Given the description of an element on the screen output the (x, y) to click on. 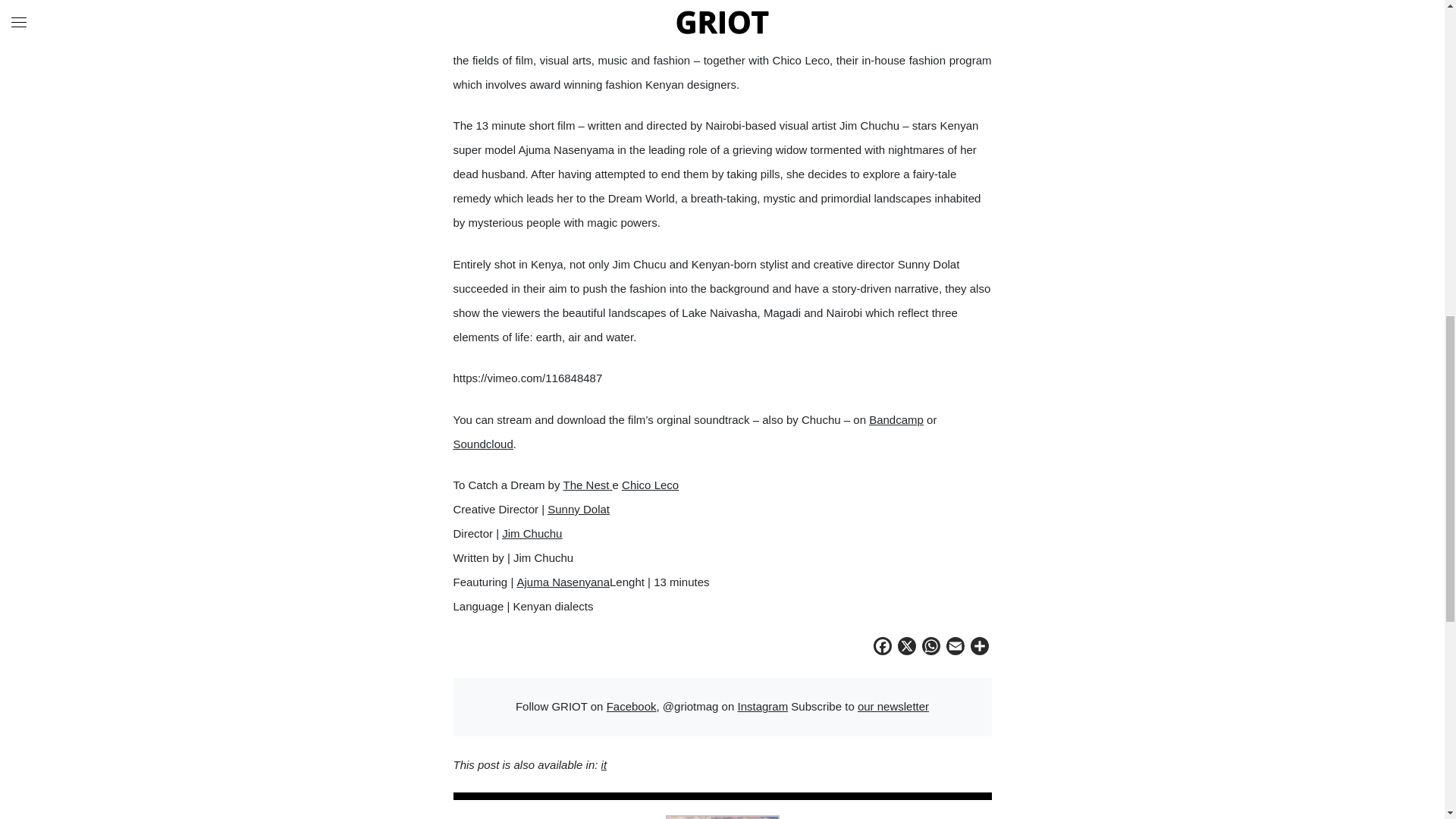
The Nest (587, 484)
Facebook (882, 648)
Bandcamp (896, 419)
To Catch a Dream (934, 11)
WhatsApp (930, 648)
Chico Leco (649, 484)
Jim Chuchu (532, 533)
Soundcloud (482, 443)
Email (955, 648)
Ajuma Nasenyana (563, 581)
Sunny Dolat (578, 508)
X (906, 648)
To catch a dream (934, 11)
